Given the description of an element on the screen output the (x, y) to click on. 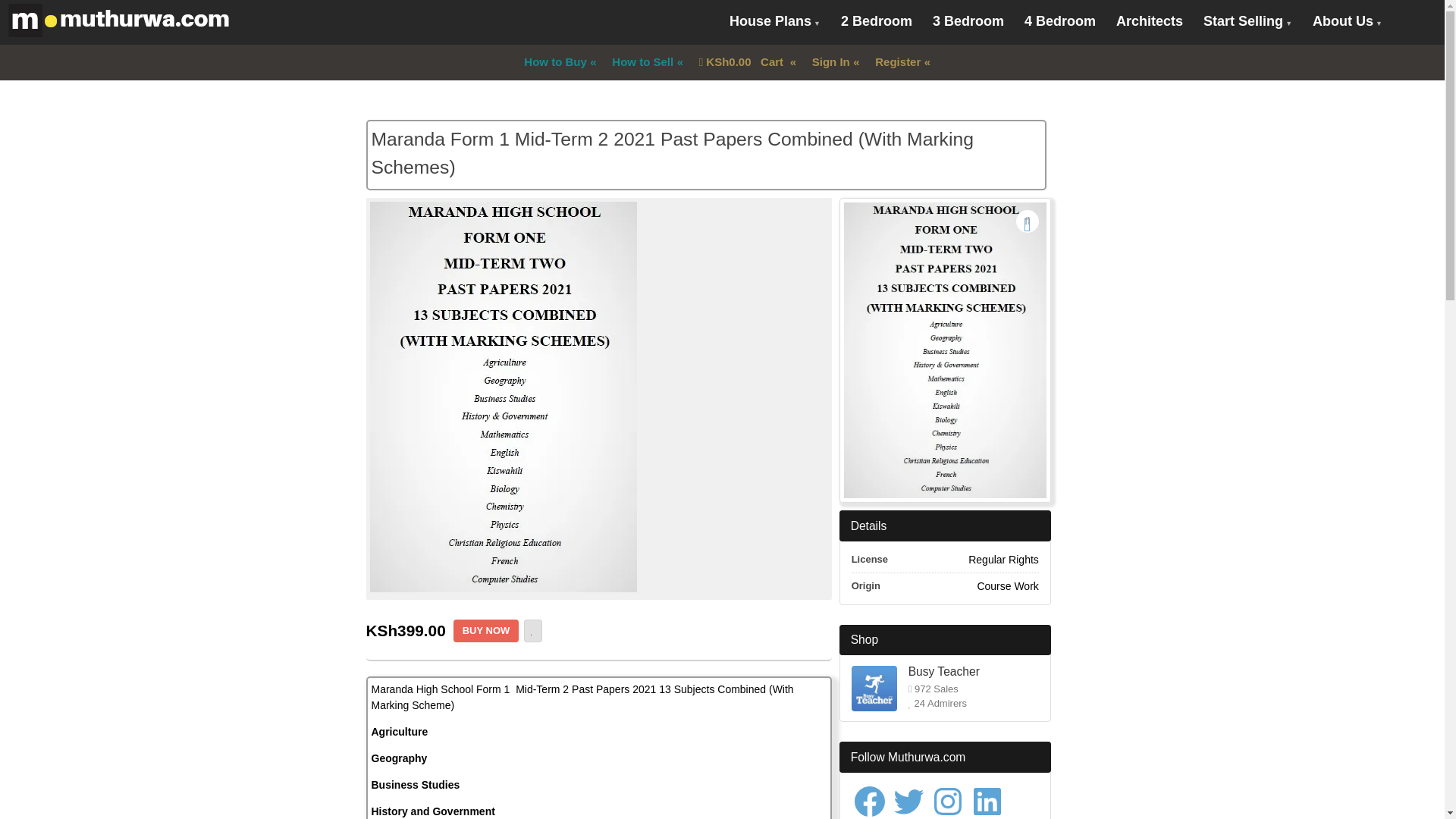
BUY NOW (485, 630)
About Us (1347, 22)
2 Bedroom (876, 20)
Architects (1149, 20)
How to Sell (641, 61)
KSh0.00   Cart (742, 61)
3 Bedroom (967, 20)
House Plans (774, 22)
Start Selling (1247, 22)
4 Bedroom (1059, 20)
